Given the description of an element on the screen output the (x, y) to click on. 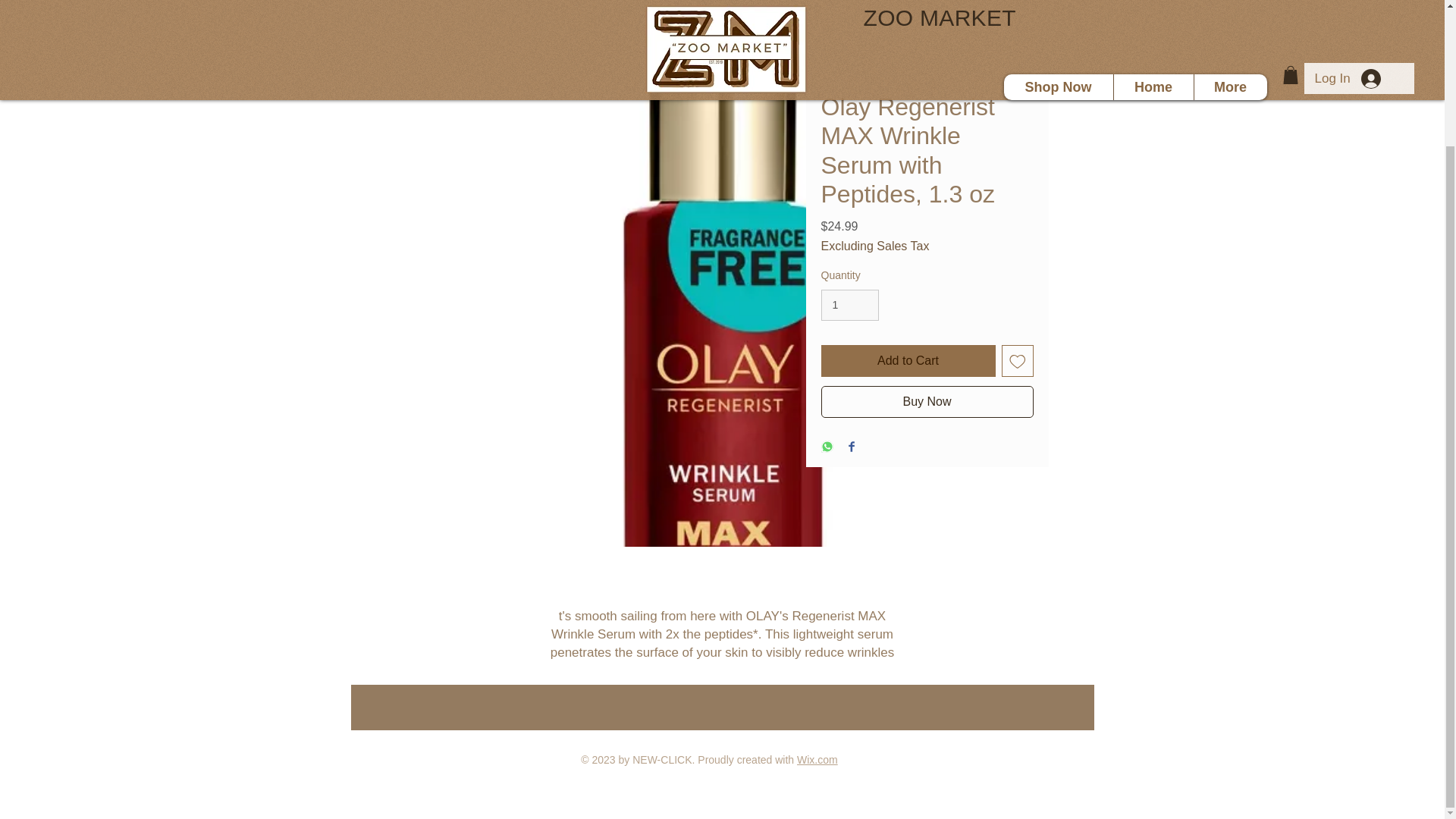
Add to Cart (907, 360)
Wix.com (817, 759)
Buy Now (926, 401)
1 (849, 305)
